Given the description of an element on the screen output the (x, y) to click on. 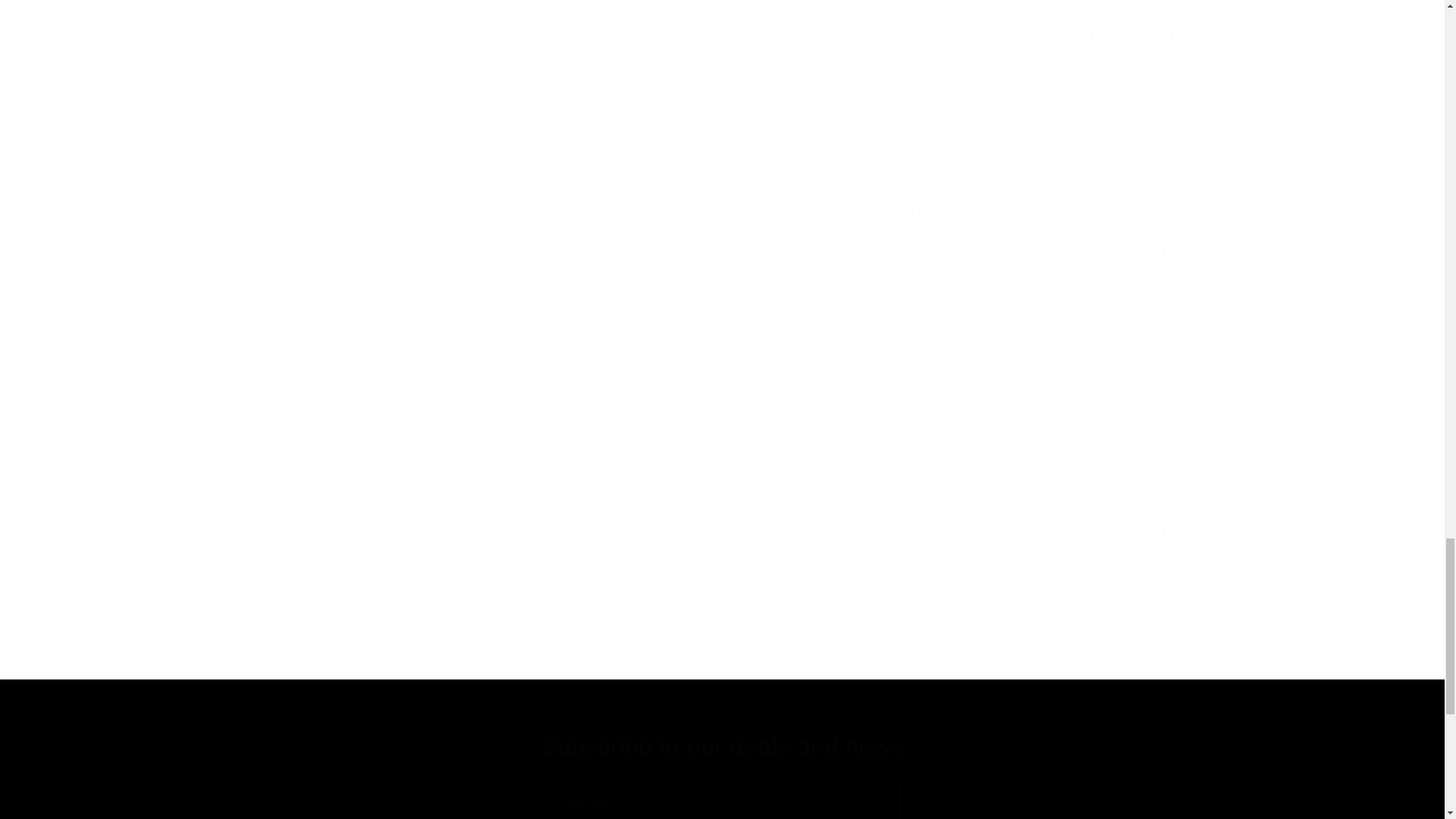
Email (721, 800)
Subscribe to our deals and news (721, 747)
